Given the description of an element on the screen output the (x, y) to click on. 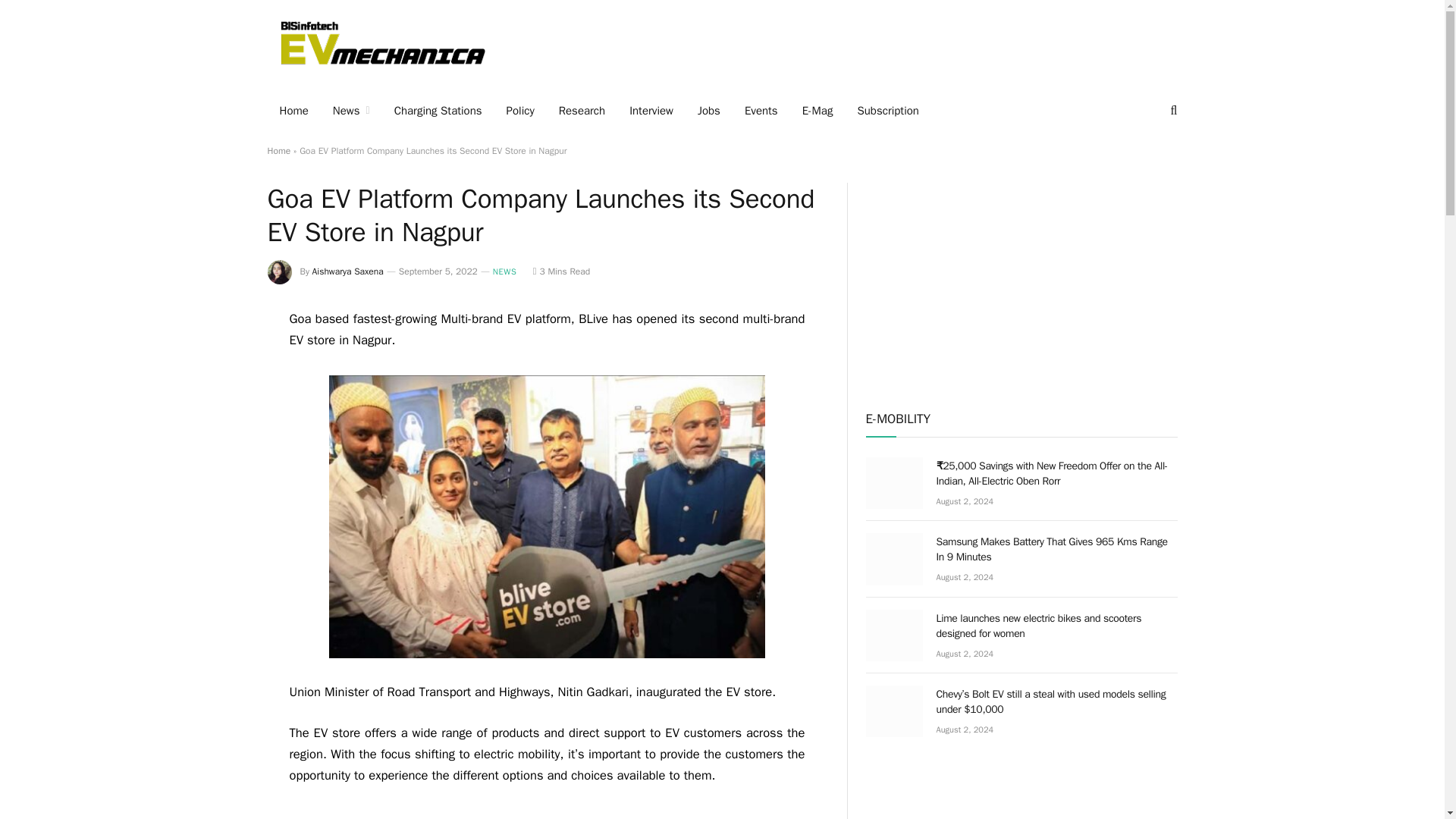
Charging Stations (438, 110)
NEWS (504, 271)
Subscription (887, 110)
Interview (651, 110)
Aishwarya Saxena (348, 271)
Home (277, 150)
News (350, 110)
Home (293, 110)
Jobs (708, 110)
Events (761, 110)
